Given the description of an element on the screen output the (x, y) to click on. 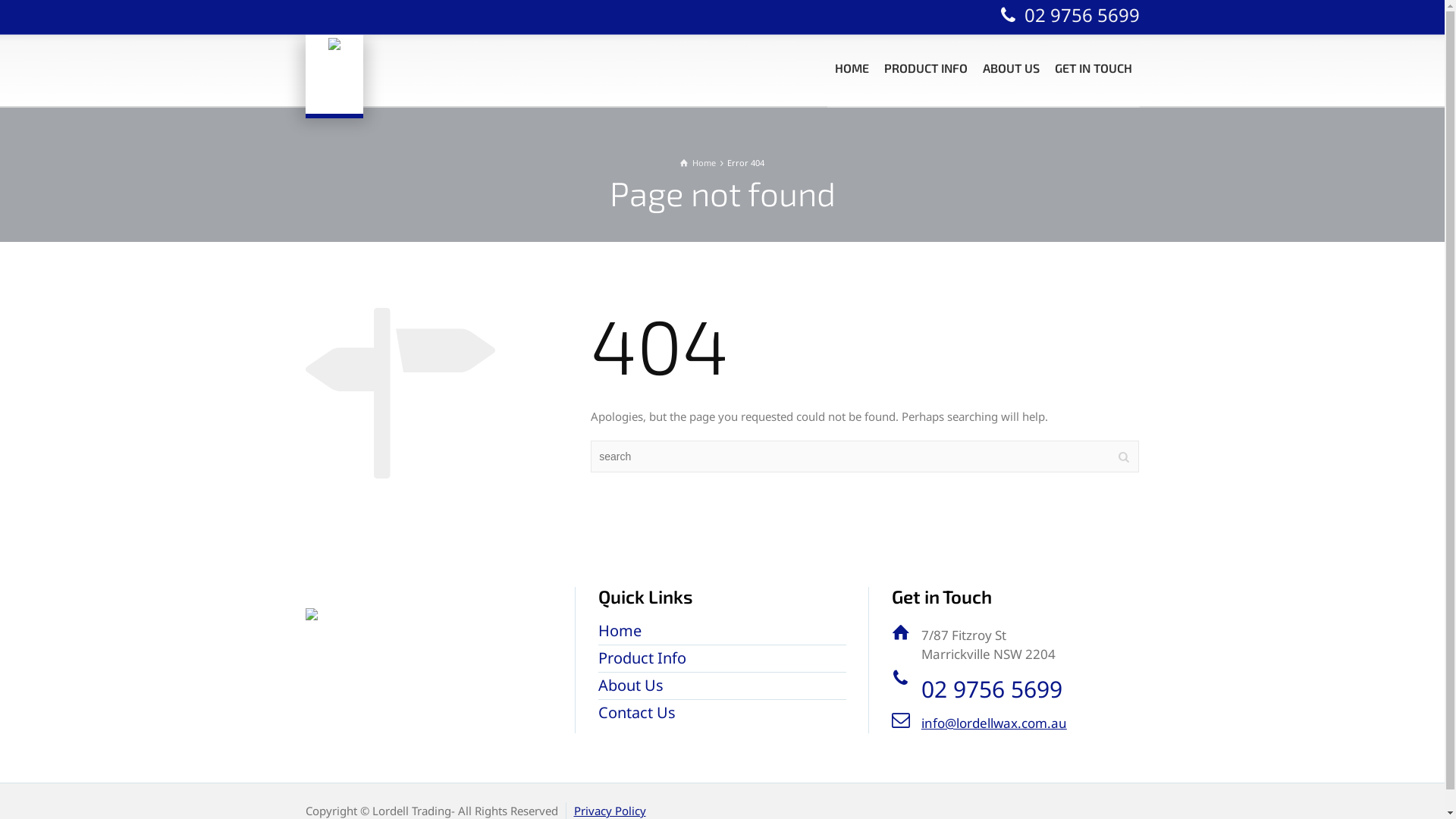
Contact Us Element type: text (636, 712)
About Us Element type: text (630, 684)
Privacy Policy Element type: text (609, 810)
PRODUCT INFO Element type: text (925, 68)
info@lordellwax.com.au Element type: text (993, 722)
GET IN TOUCH Element type: text (1092, 68)
Lordell Wax Element type: hover (333, 71)
Home Element type: text (697, 162)
HOME Element type: text (850, 68)
02 9756 5699 Element type: text (1067, 14)
Product Info Element type: text (642, 657)
02 9756 5699 Element type: text (991, 688)
Home Element type: text (619, 630)
ABOUT US Element type: text (1011, 68)
